Given the description of an element on the screen output the (x, y) to click on. 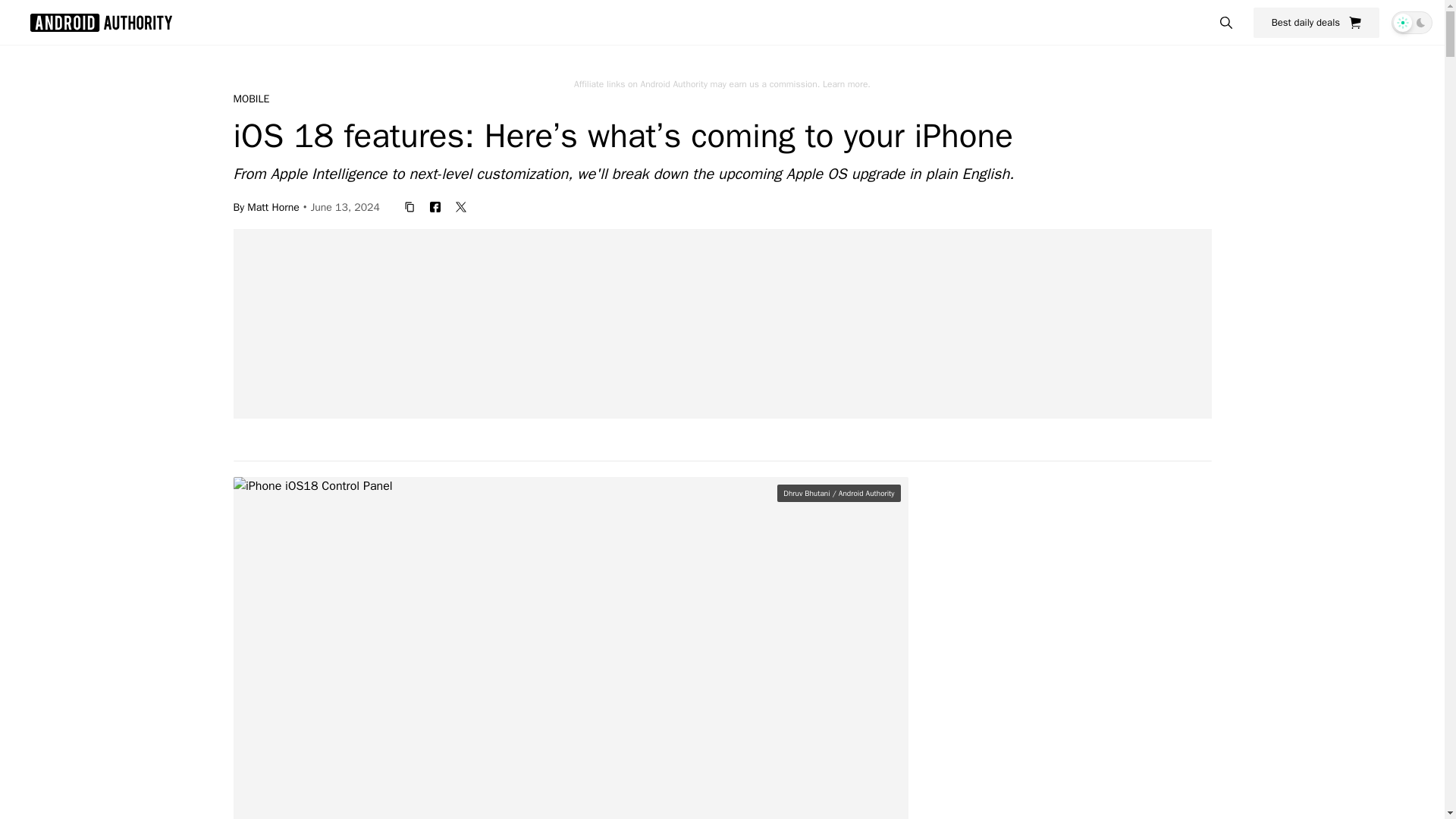
Matt Horne (273, 206)
Learn more. (846, 83)
MOBILE (250, 98)
facebook (435, 207)
twitter (461, 207)
Best daily deals (1315, 22)
